Given the description of an element on the screen output the (x, y) to click on. 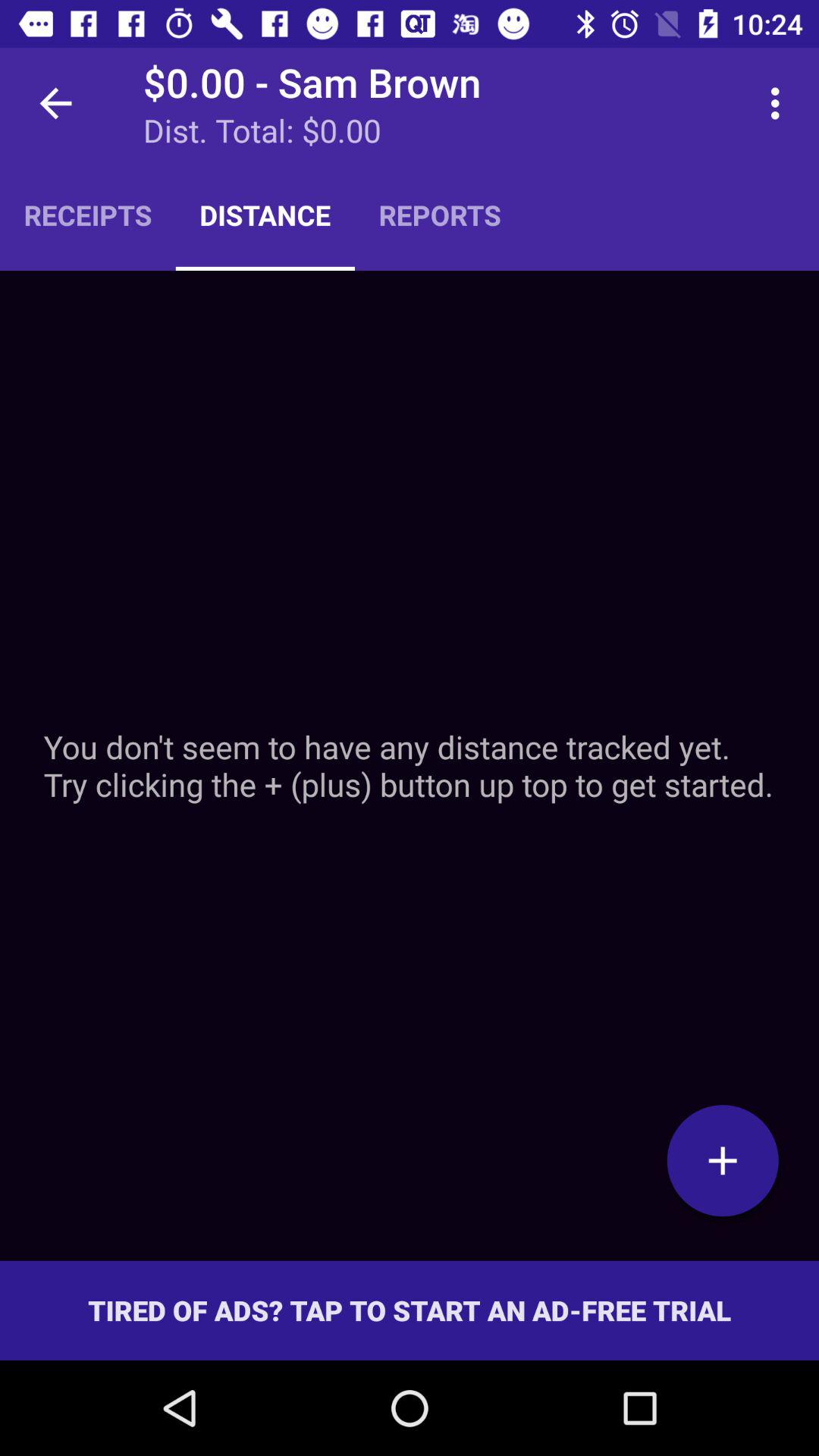
launch the item above you don t (439, 214)
